Given the description of an element on the screen output the (x, y) to click on. 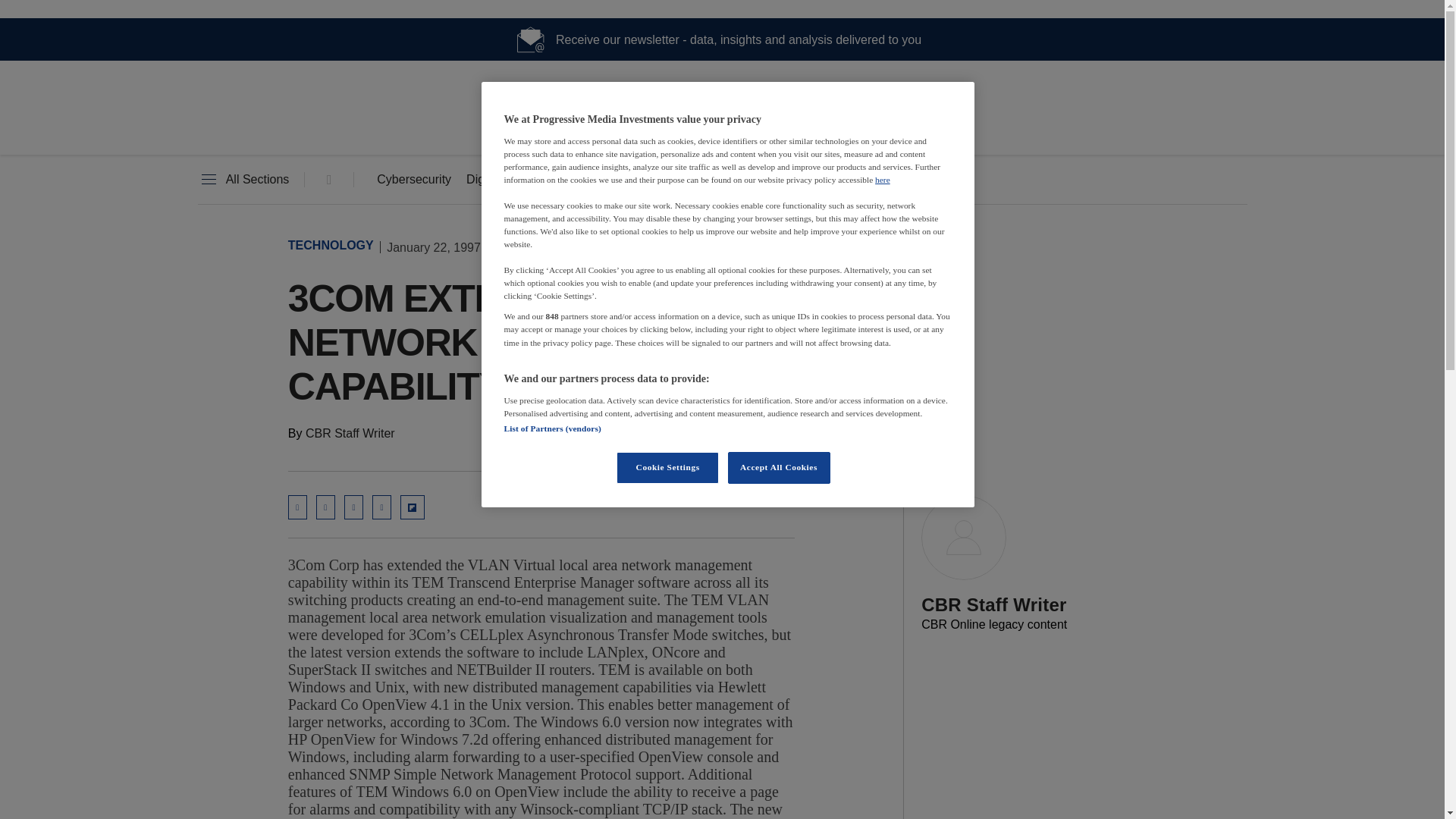
Share on LinkedIN (324, 507)
All Sections (242, 179)
Digital economy (509, 179)
Cybersecurity (414, 179)
Events (783, 179)
Leadership (701, 179)
Share in an email (297, 507)
Share on facebook (381, 507)
Share on Twitter (352, 507)
Tech Monitor (722, 128)
Share on Flipboard (412, 507)
Hardware (612, 179)
